Given the description of an element on the screen output the (x, y) to click on. 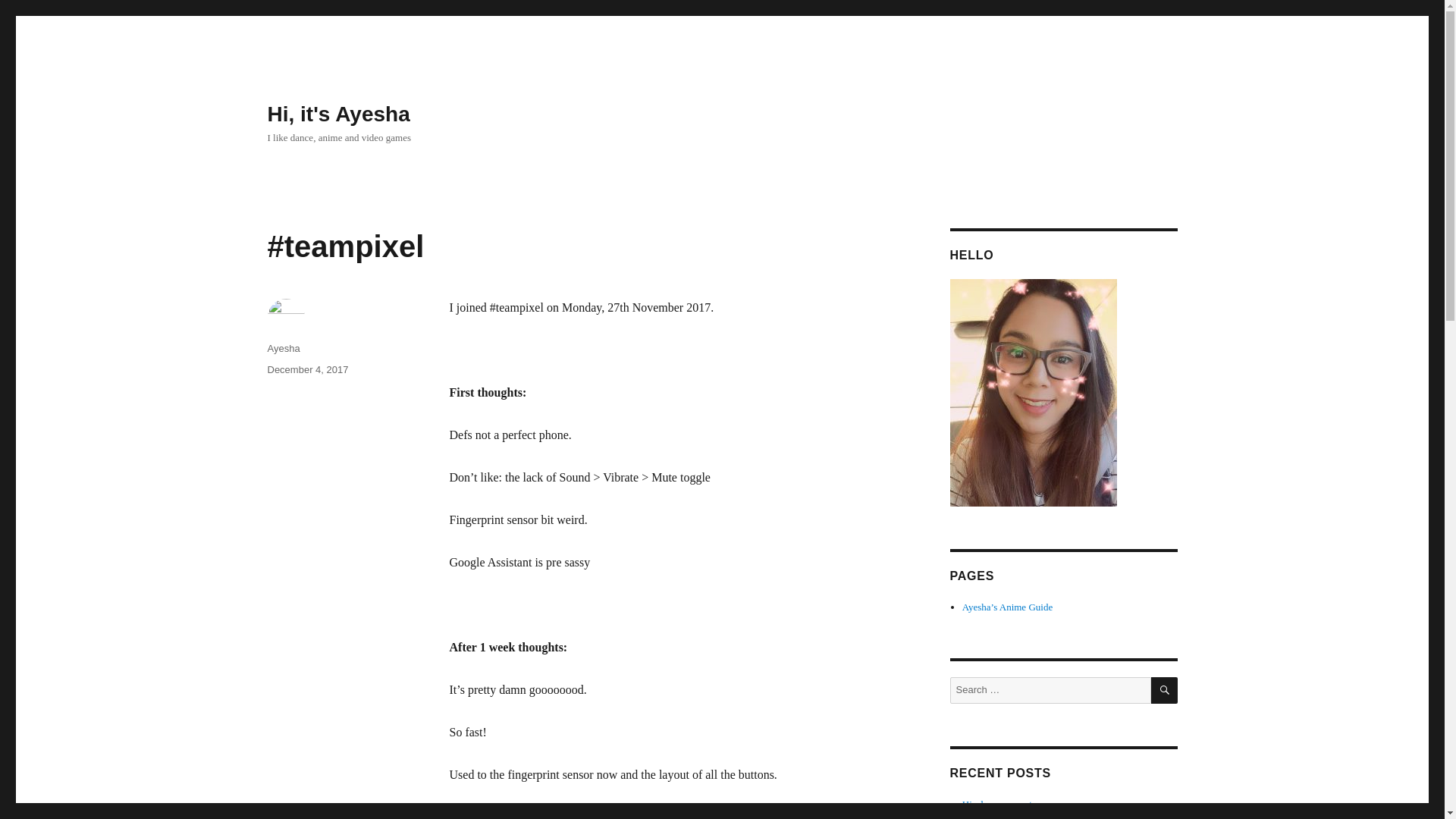
Digital declutter (994, 816)
His dream come true (1003, 803)
Ayesha (282, 348)
December 4, 2017 (306, 369)
Hi, it's Ayesha (337, 114)
SEARCH (1164, 690)
